Given the description of an element on the screen output the (x, y) to click on. 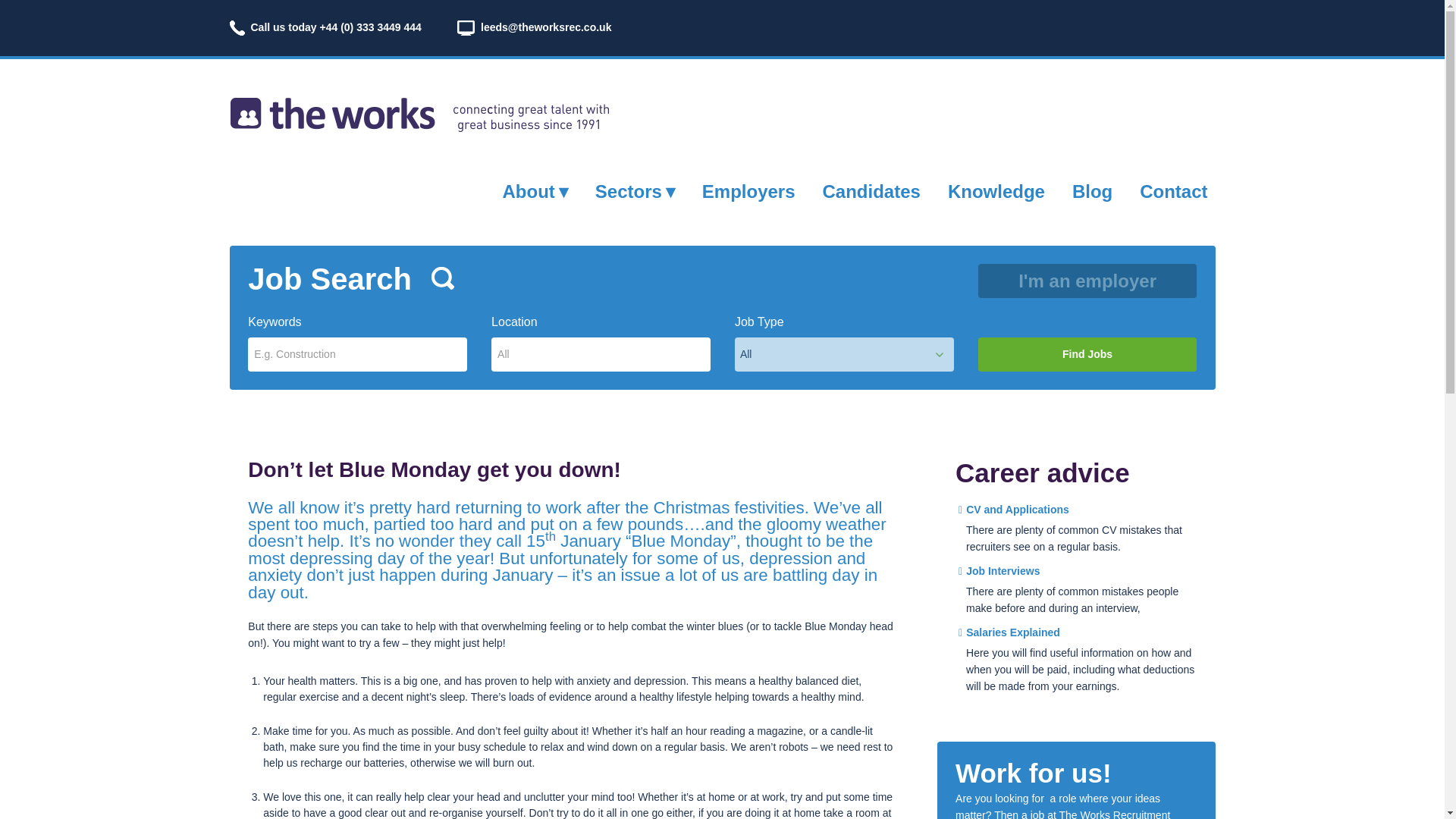
Sectors (635, 190)
CV and Applications (1013, 509)
Candidates (871, 190)
Knowledge (996, 190)
Employers (747, 190)
Salaries Explained (1008, 632)
Find Jobs (1087, 354)
About (534, 190)
Blog (1091, 190)
Job Interviews (998, 571)
Contact (1173, 190)
